Given the description of an element on the screen output the (x, y) to click on. 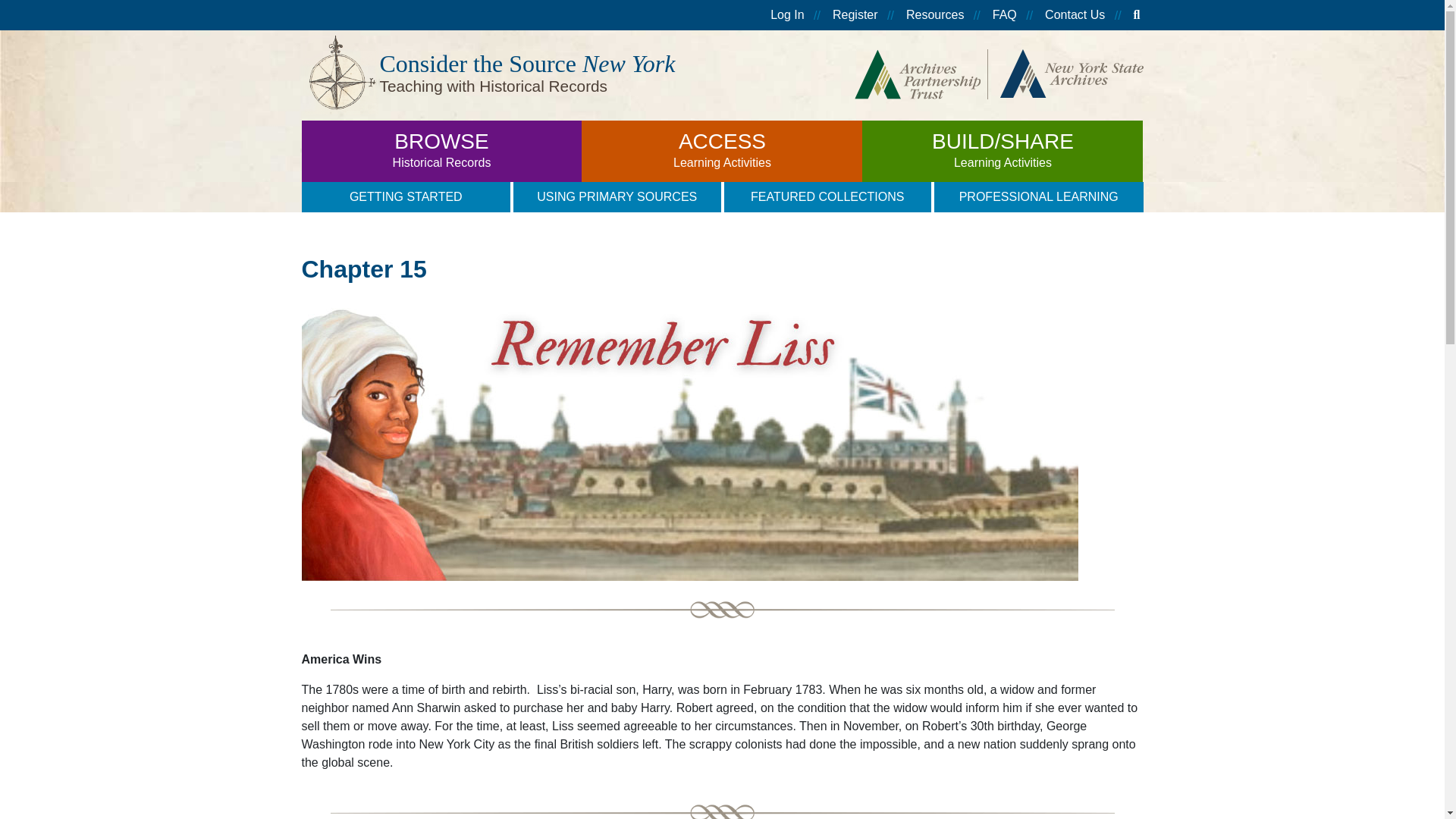
Contact Us (720, 150)
Remember Liss Banner (1075, 15)
Resources (441, 150)
Register (934, 15)
